Given the description of an element on the screen output the (x, y) to click on. 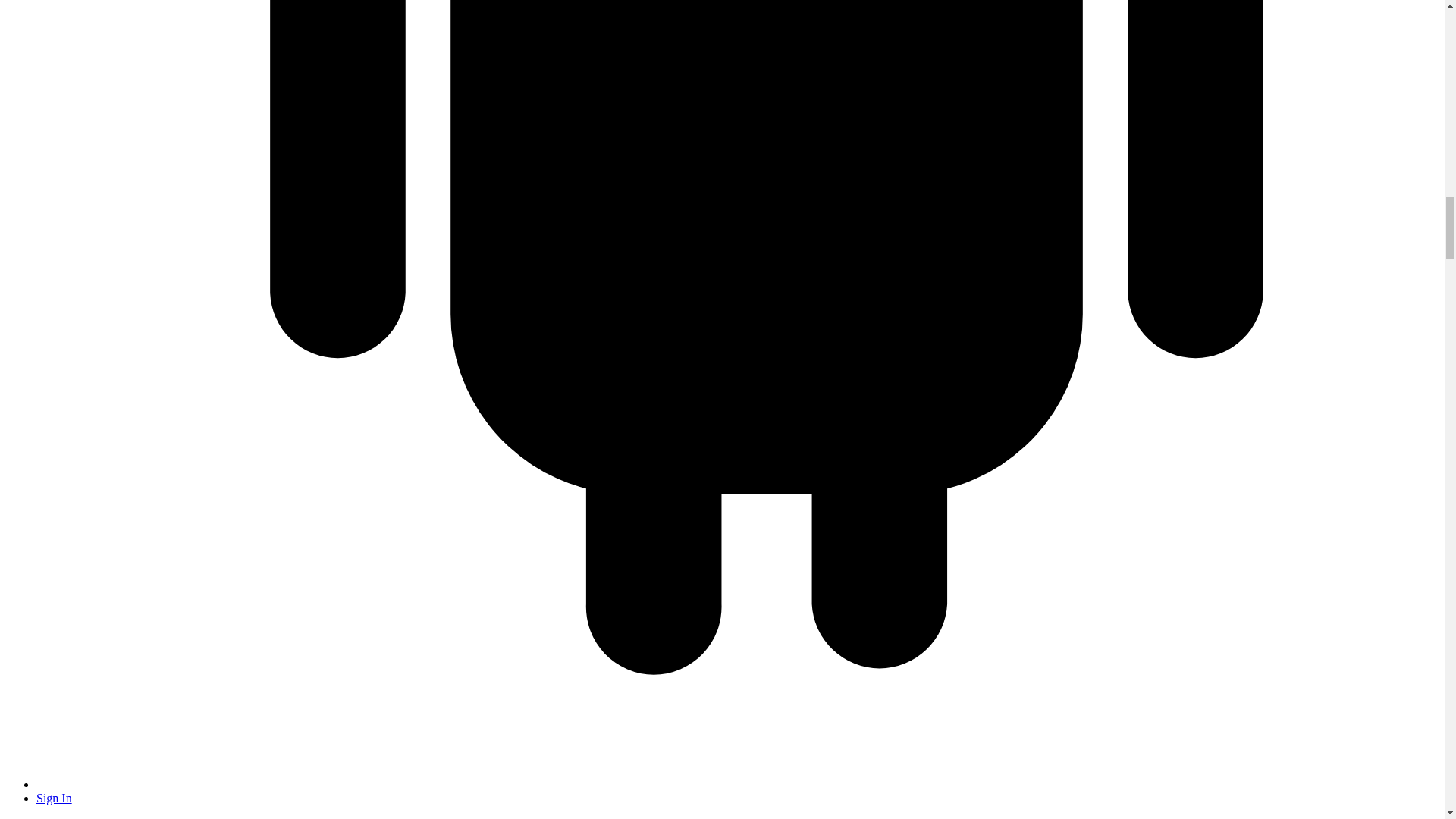
Sign In (53, 797)
